Given the description of an element on the screen output the (x, y) to click on. 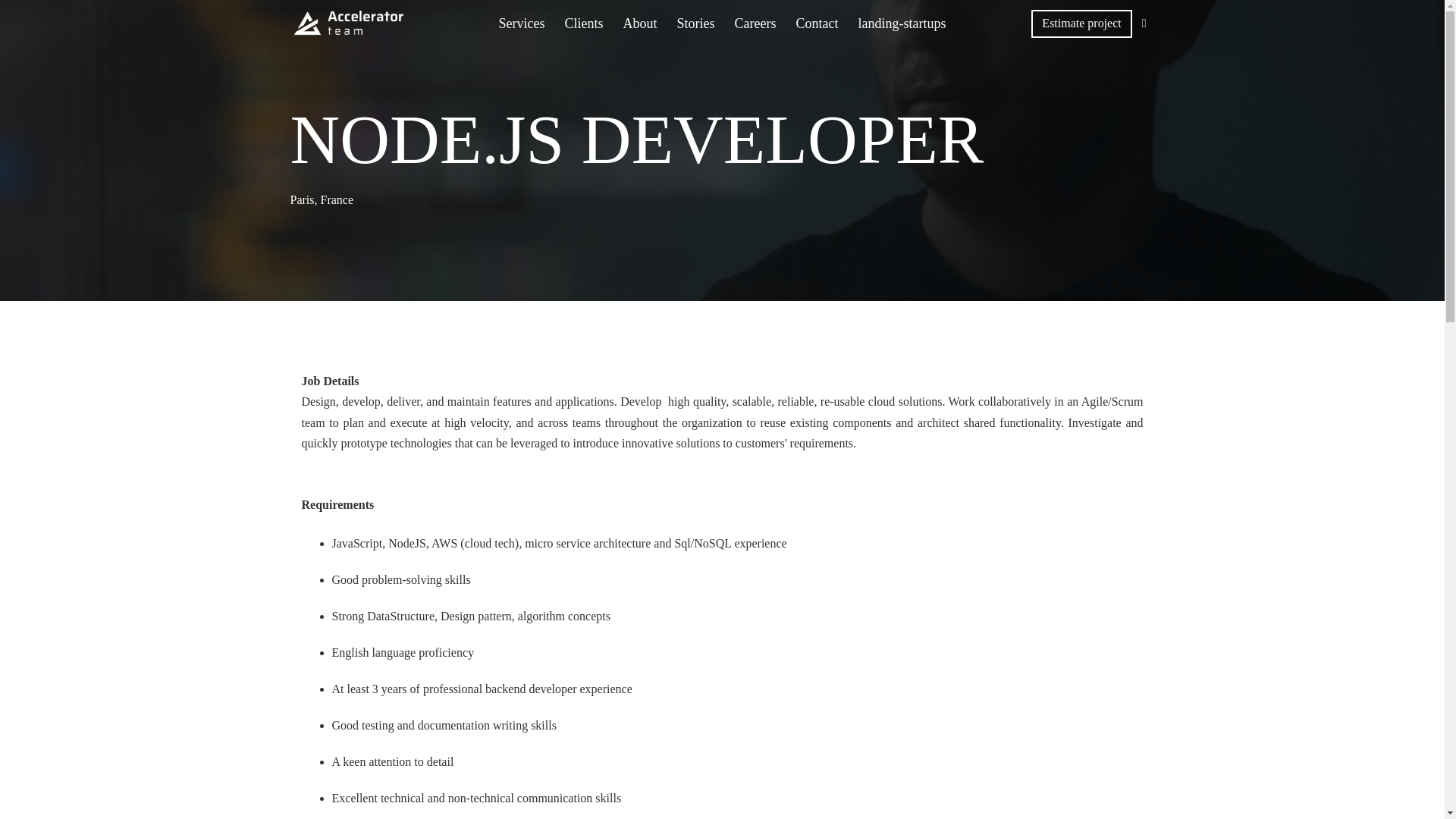
Careers (755, 22)
landing-startups (901, 22)
About (640, 22)
Estimate project (1080, 23)
Clients (583, 22)
Contact (817, 22)
Services (522, 22)
Stories (695, 22)
